Given the description of an element on the screen output the (x, y) to click on. 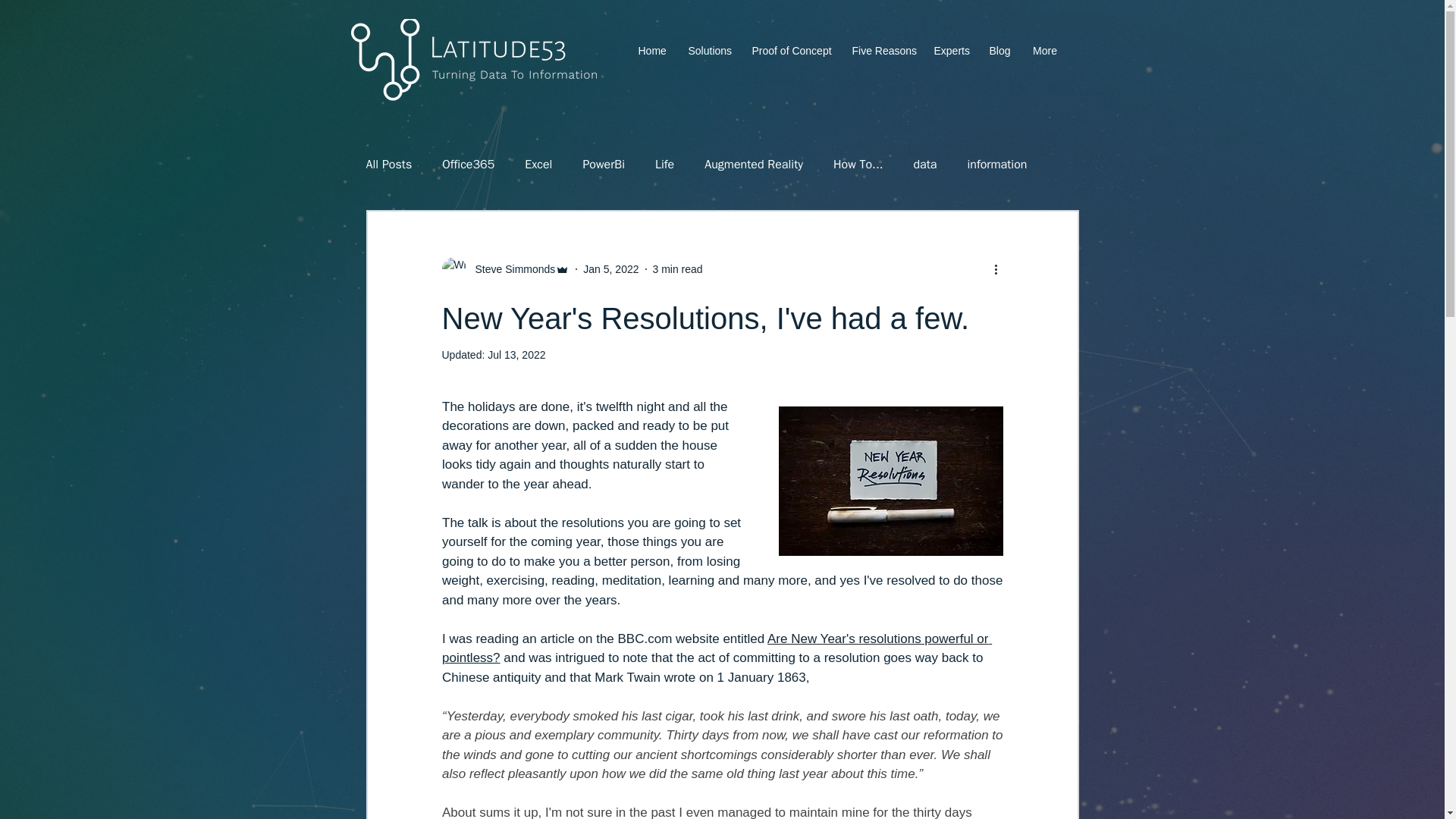
White on Transparent.png (472, 59)
Augmented Reality (753, 163)
Home (651, 50)
Proof of Concept (789, 50)
How To... (857, 163)
Jul 13, 2022 (515, 354)
Excel (537, 163)
Steve Simmonds (509, 268)
PowerBi (603, 163)
information (996, 163)
